Given the description of an element on the screen output the (x, y) to click on. 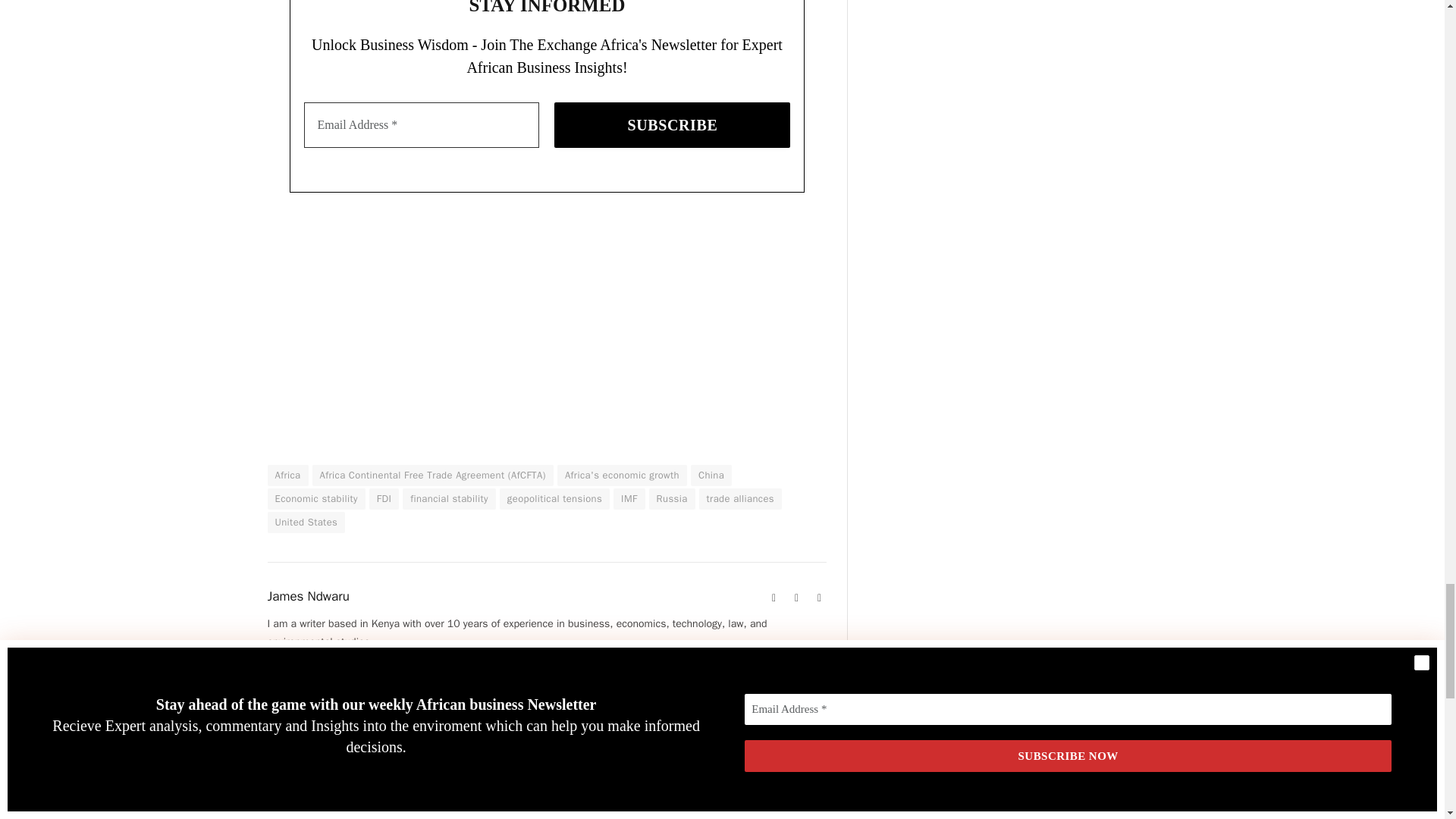
SUBSCRIBE (672, 125)
